Given the description of an element on the screen output the (x, y) to click on. 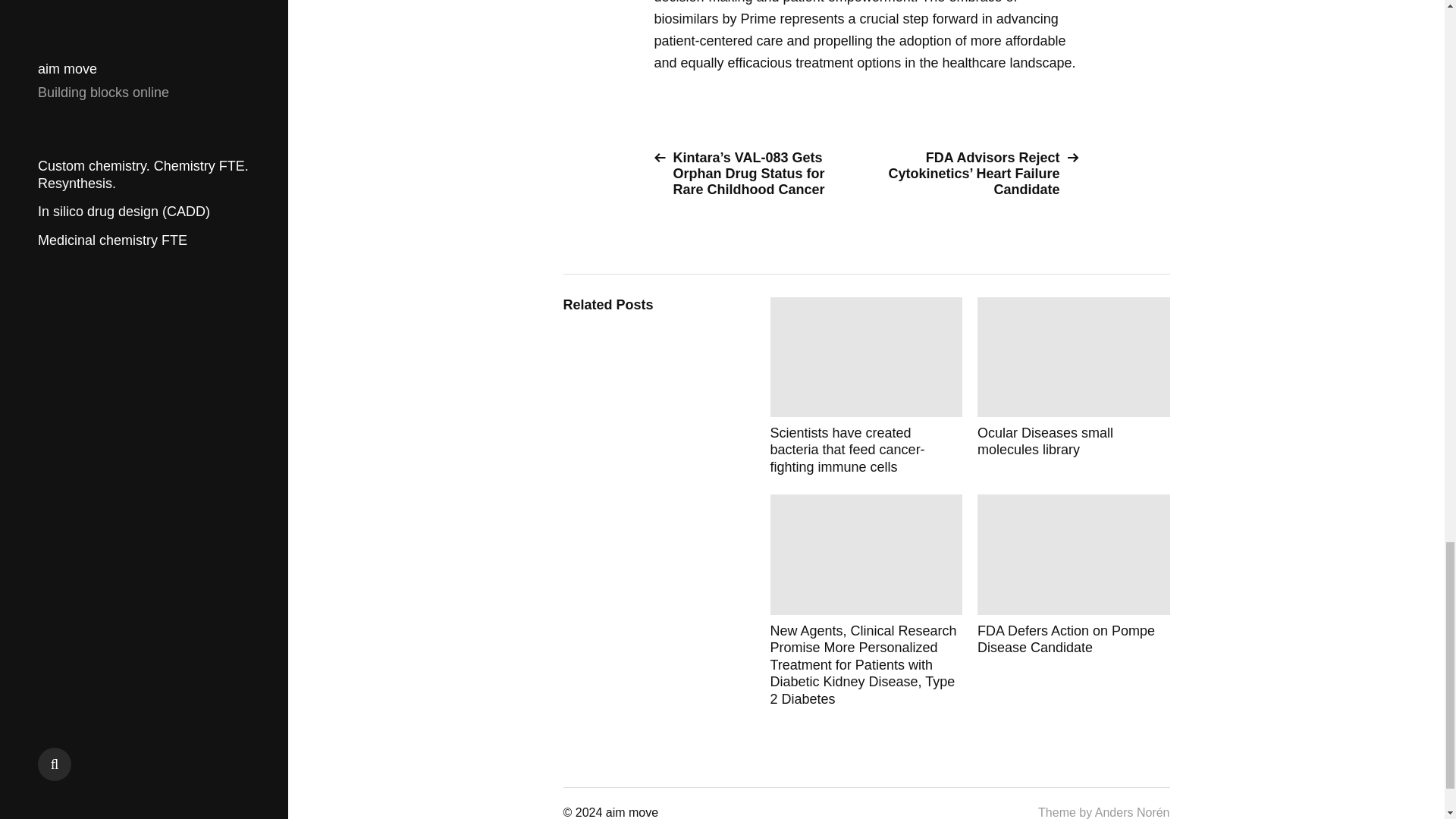
FDA Defers Action on Pompe Disease Candidate (1073, 600)
Ocular Diseases small molecules library (1073, 386)
